Given the description of an element on the screen output the (x, y) to click on. 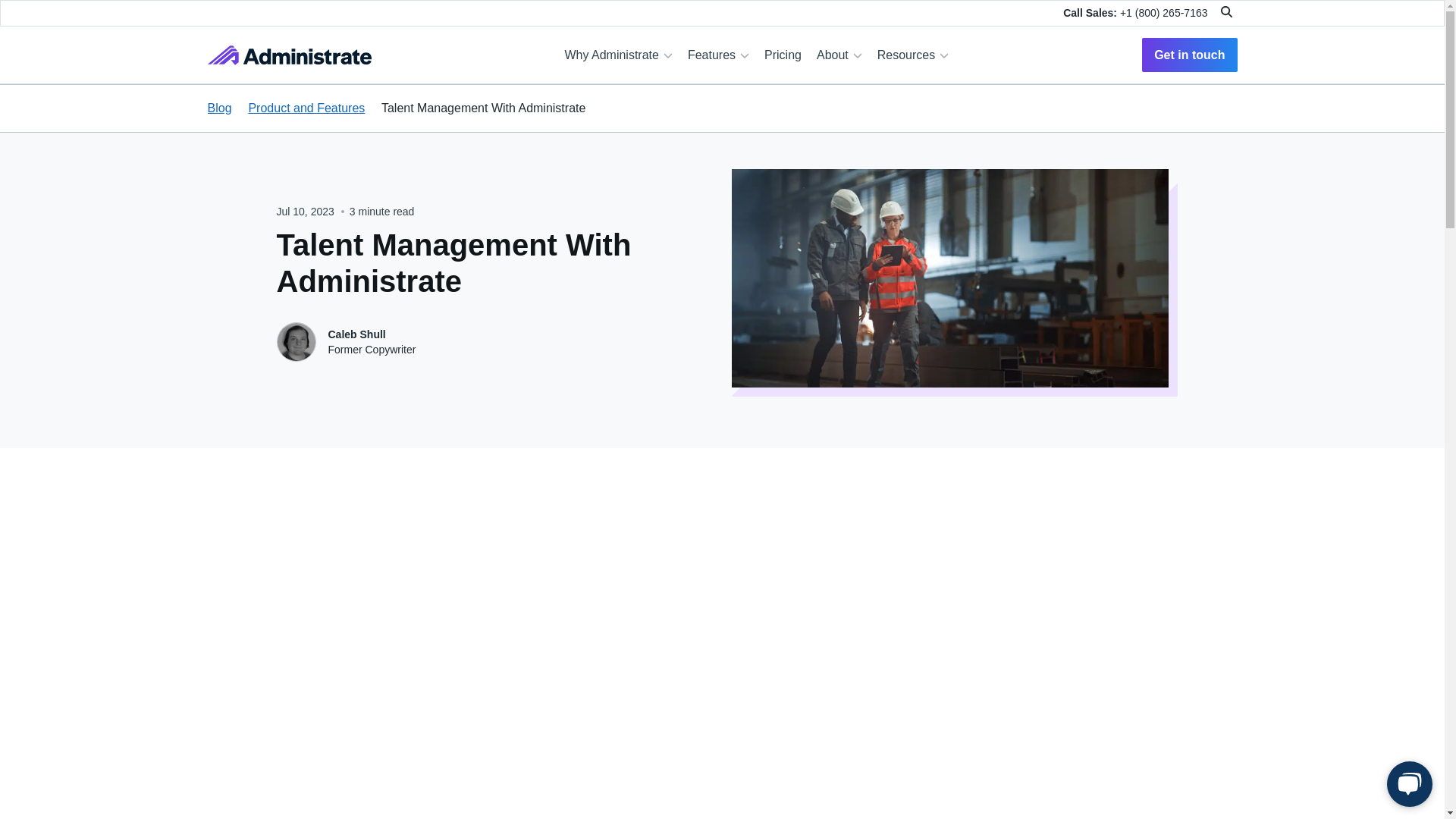
Search (1228, 10)
Features (718, 54)
Pricing (783, 54)
About (839, 54)
Why Administrate (617, 54)
